Given the description of an element on the screen output the (x, y) to click on. 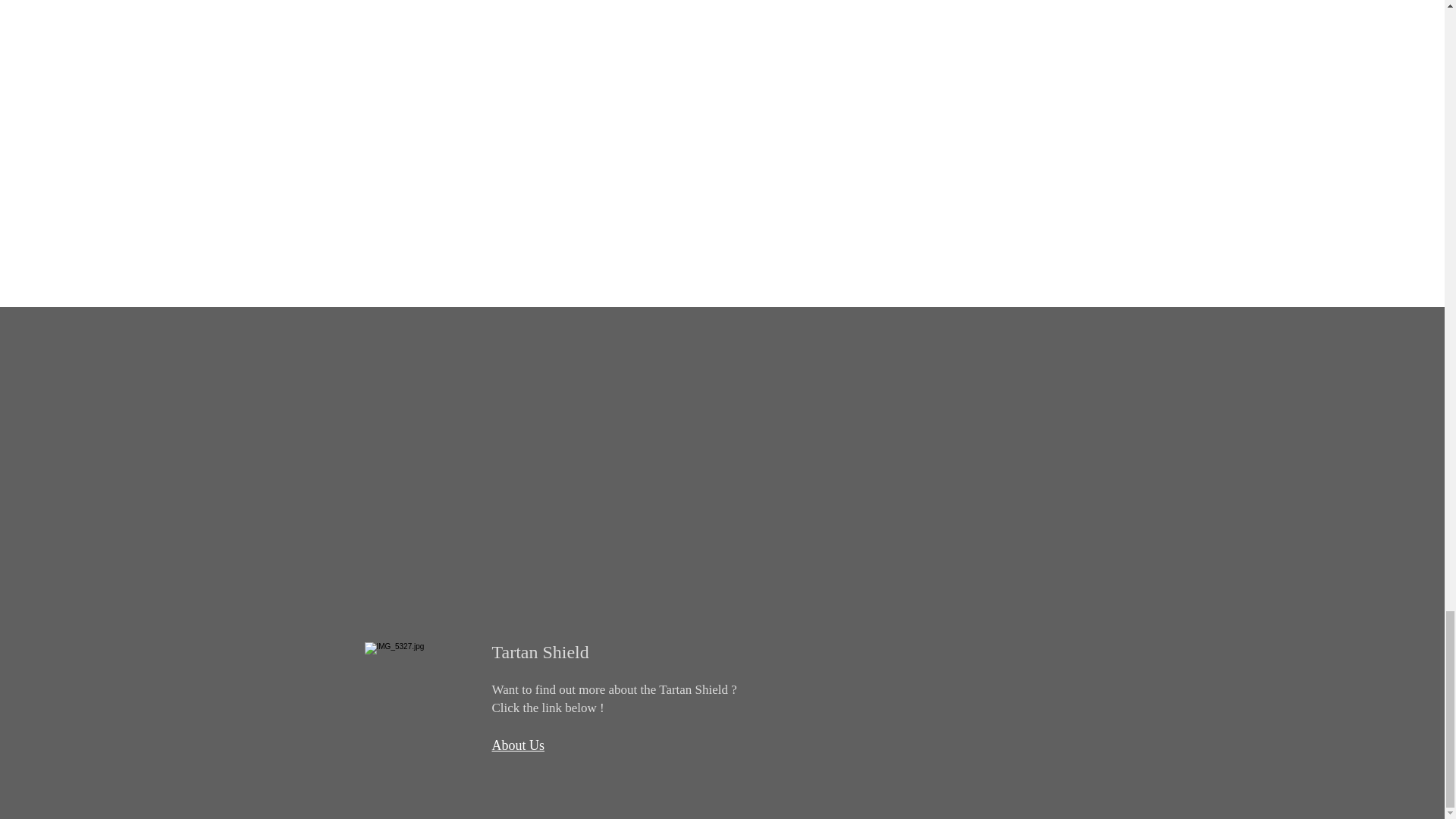
About Us (518, 744)
